Given the description of an element on the screen output the (x, y) to click on. 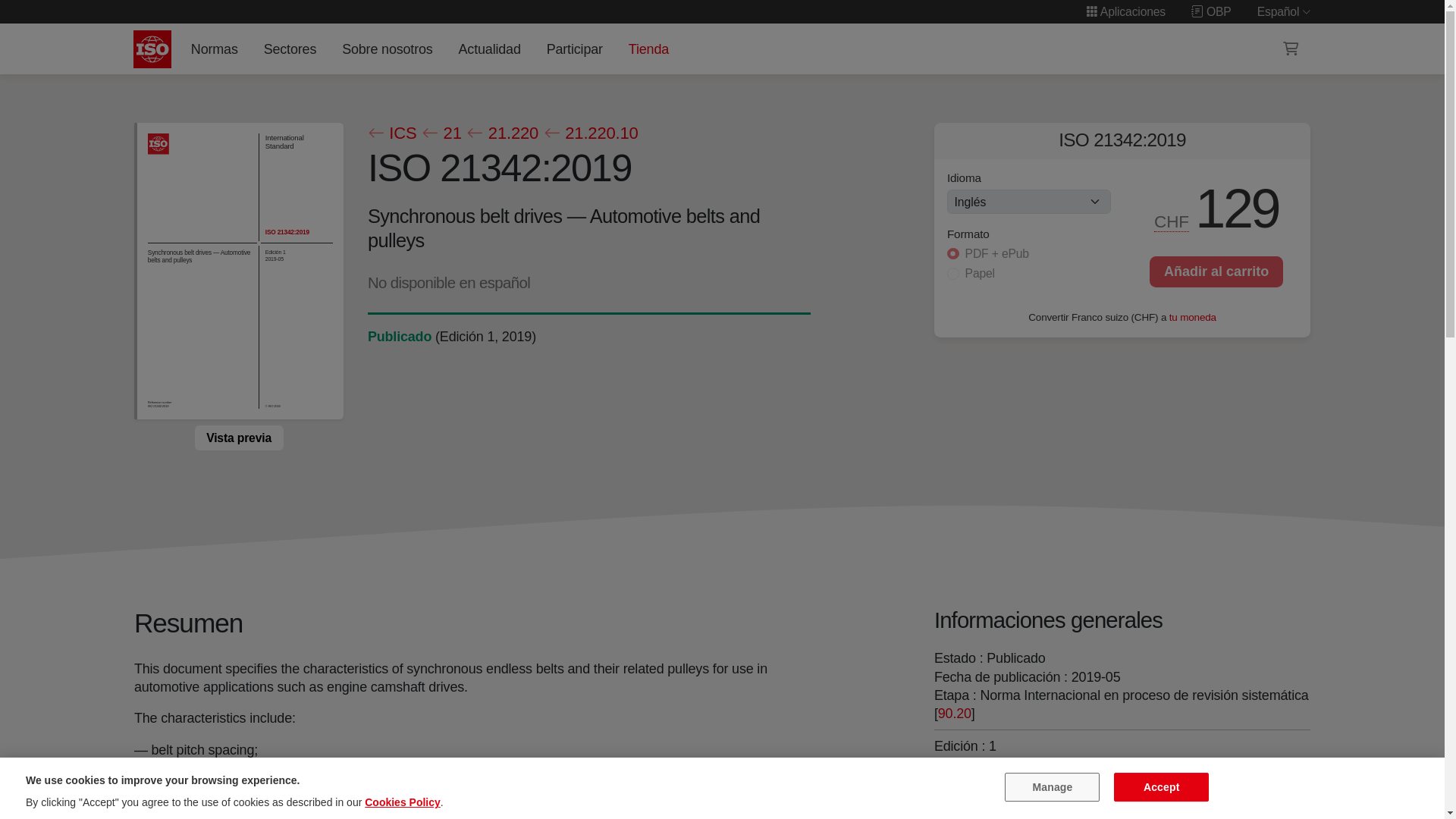
90.20 (954, 713)
 OBP (1211, 11)
Belt drives and their components (997, 812)
Sectores (290, 48)
21 (441, 133)
Normas (214, 48)
Portal de aplicaciones de ISO (1126, 11)
Carro de la compra (1290, 49)
Tienda (648, 48)
21.220.10 (590, 133)
Vista previa (237, 437)
